Given the description of an element on the screen output the (x, y) to click on. 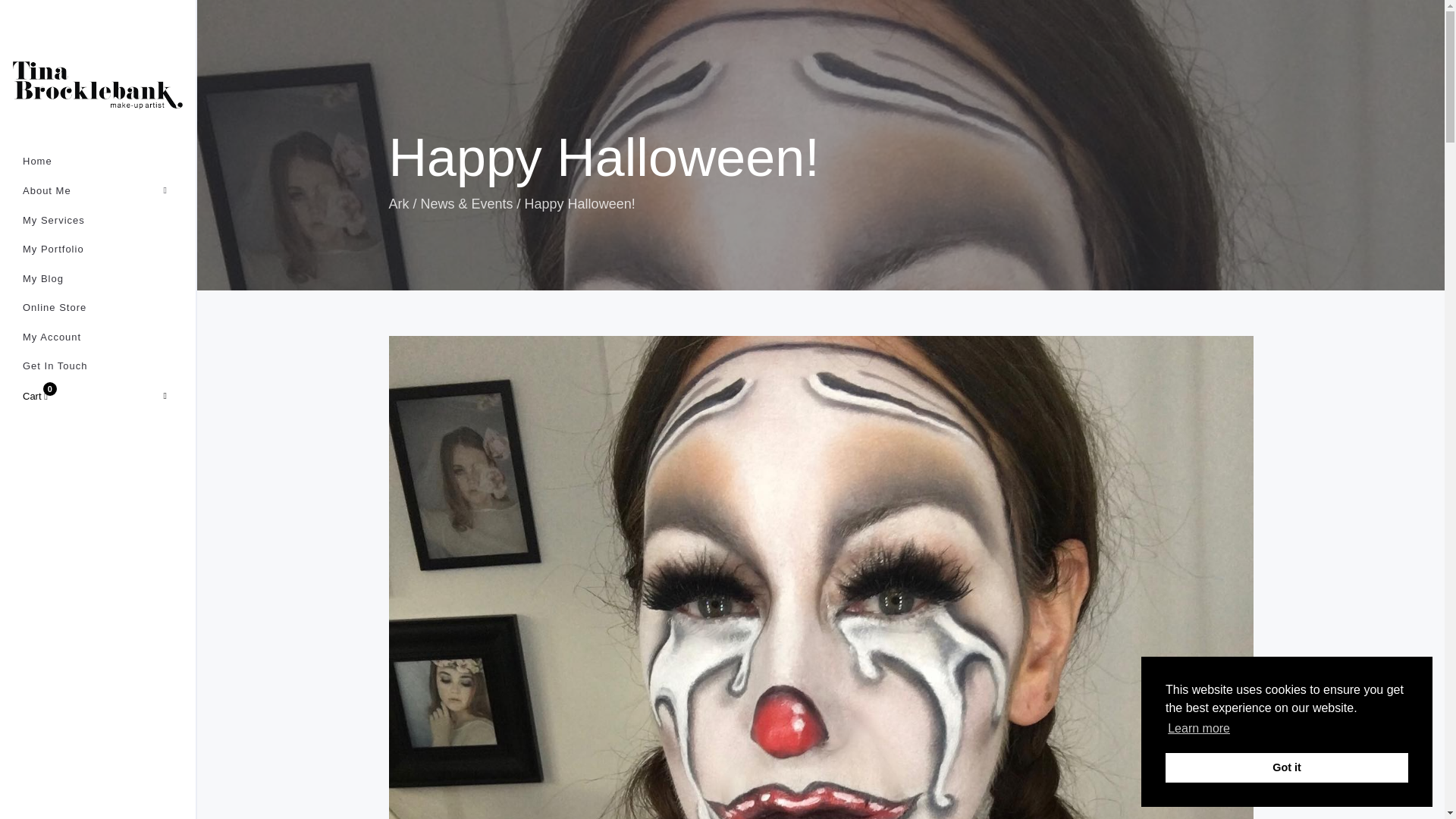
Learn more (1198, 728)
Ark (398, 203)
My Services (98, 220)
Get In Touch (98, 366)
About Me (98, 191)
My Blog (98, 279)
0 (27, 396)
Online Store (98, 307)
Home (98, 161)
My Portfolio (98, 249)
Cart  (97, 396)
My Account (98, 337)
